Given the description of an element on the screen output the (x, y) to click on. 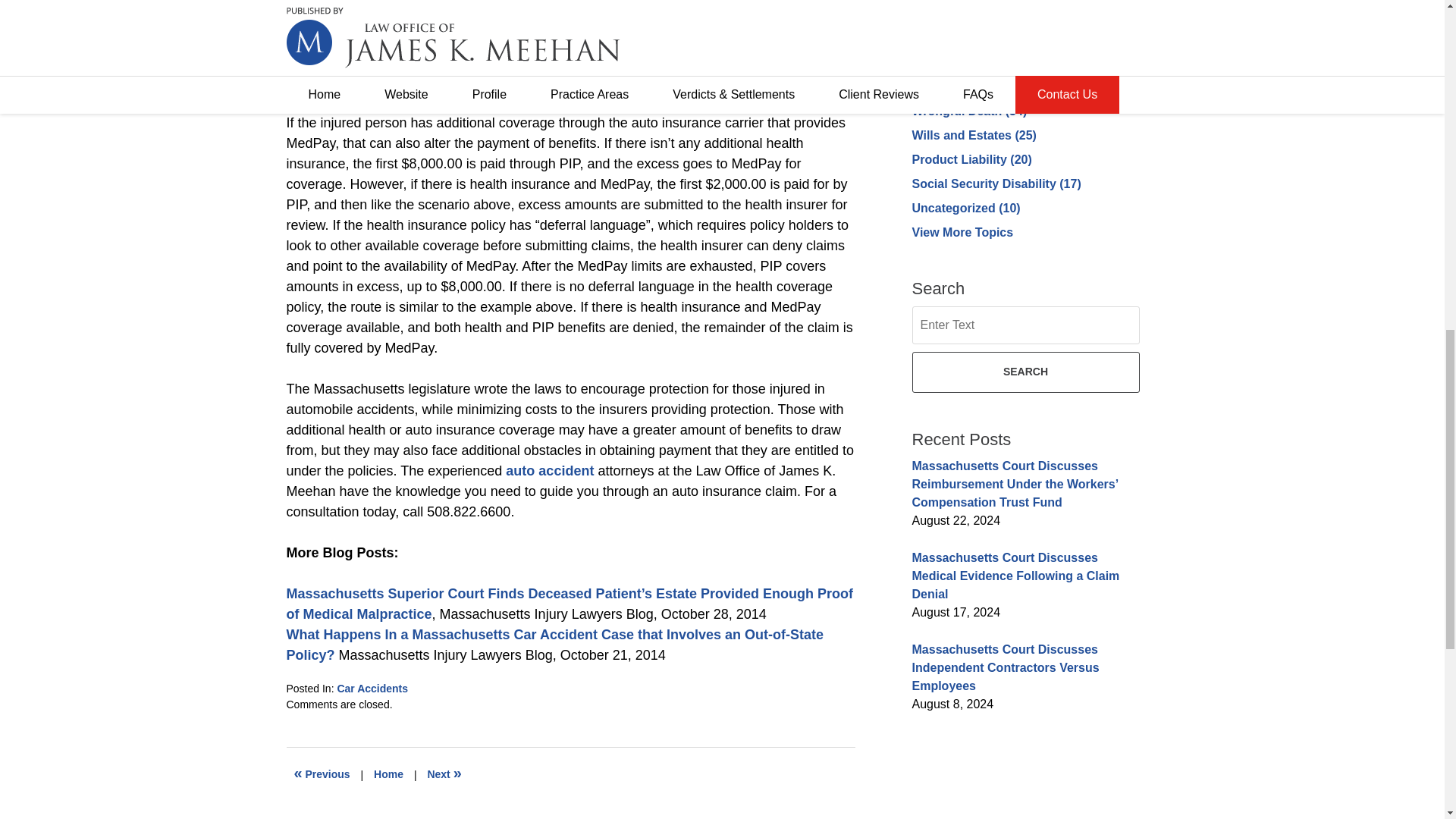
Home (388, 774)
Car Accidents (371, 688)
View all posts in Car Accidents (371, 688)
auto accident (549, 470)
